Given the description of an element on the screen output the (x, y) to click on. 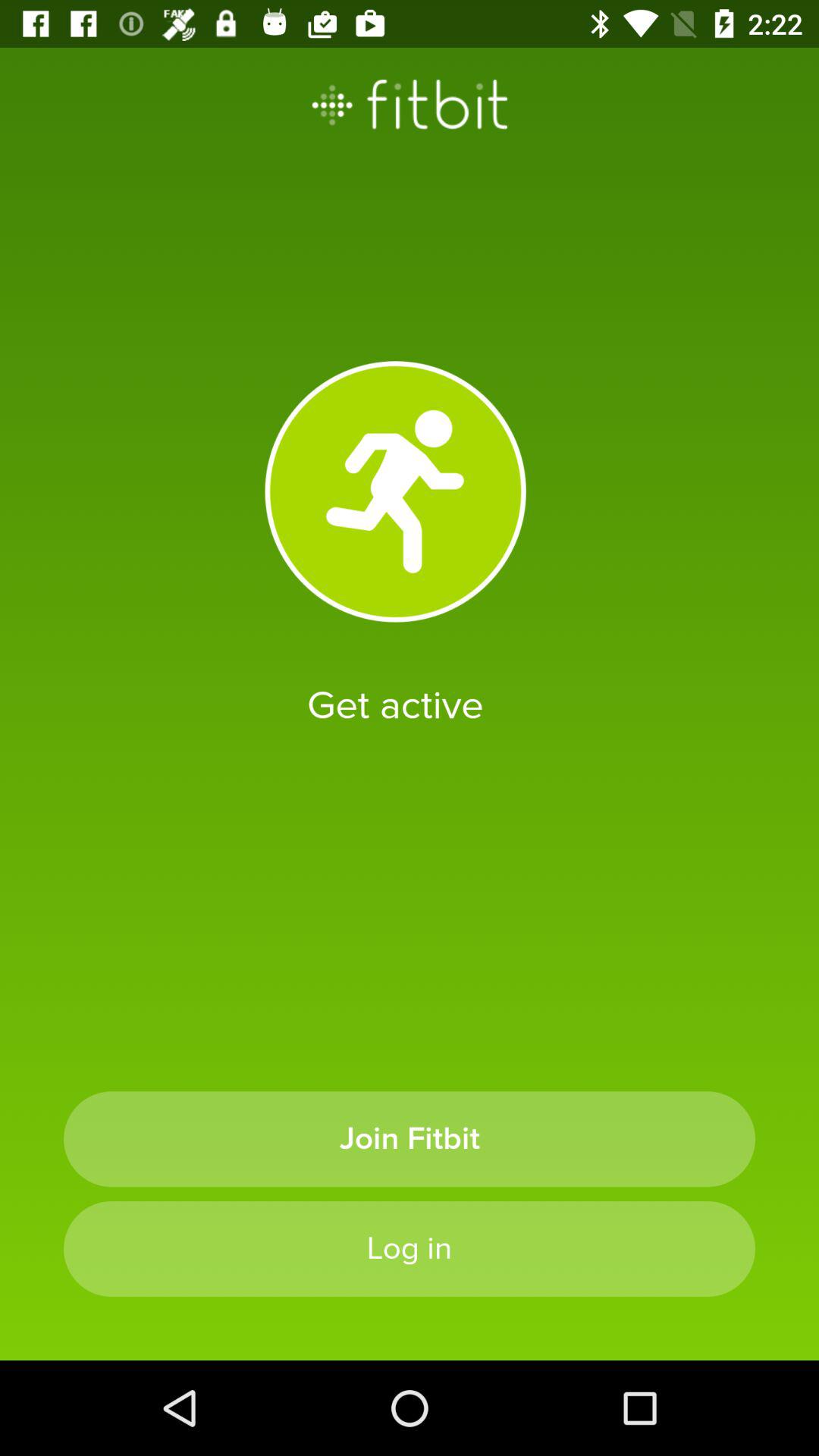
turn on the log in icon (409, 1248)
